Given the description of an element on the screen output the (x, y) to click on. 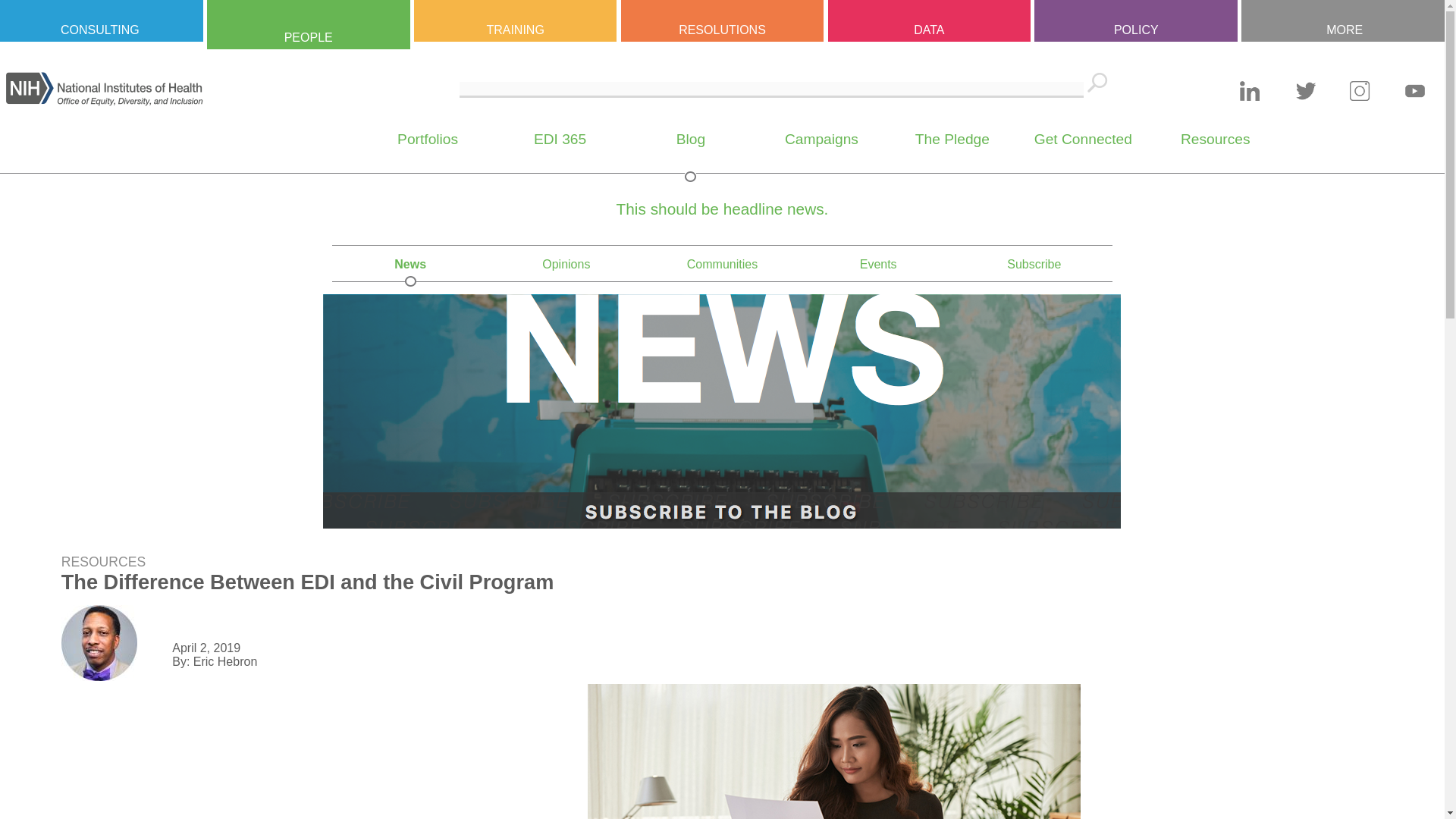
Visit the EDI Instagram page. (1359, 97)
Visit the EDI YouTube page. (1414, 97)
Eric Hebron (98, 642)
Visit the EDI LinkedIn page. (1249, 97)
Enter the terms you wish to search for. (771, 89)
Visit the EDI Twitter page. (1305, 97)
PEOPLE (308, 24)
Home (104, 101)
CONSULTING (100, 20)
Subscribe to the EDI Blog (722, 523)
Search (1097, 82)
A young Asian woman in her office comparing notes. (834, 751)
Search (1097, 82)
